Given the description of an element on the screen output the (x, y) to click on. 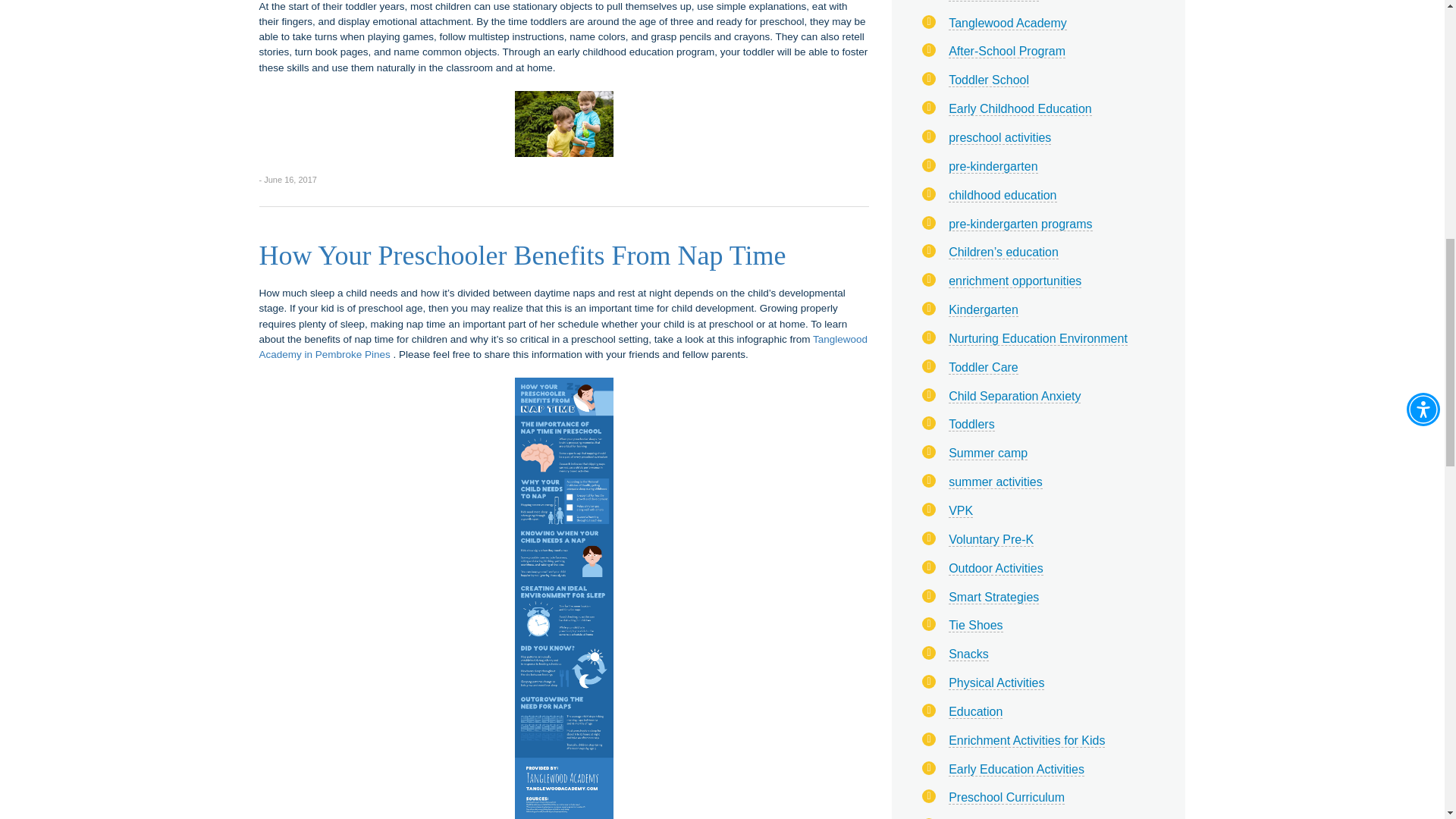
How Your Preschooler Benefits From Nap Time (522, 255)
Child hitting developmental milestones (563, 123)
Tanglewood Academy in Pembroke Pines (563, 346)
- June 16, 2017 (288, 179)
